Given the description of an element on the screen output the (x, y) to click on. 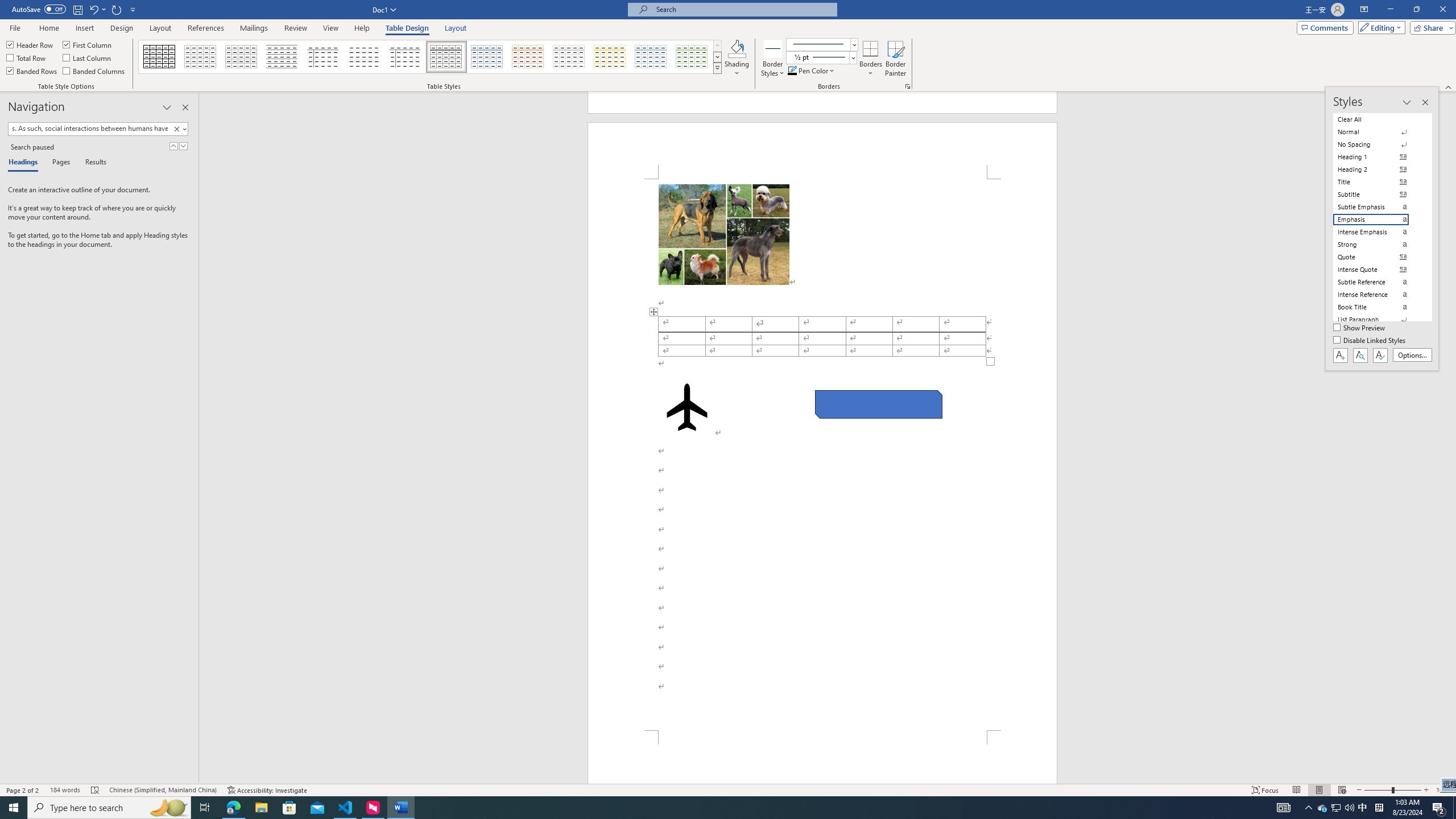
Class: NetUIScrollBar (1450, 437)
Plain Table 3 (322, 56)
Heading 2 (1377, 169)
Subtle Emphasis (1377, 206)
Border Painter (895, 58)
Editing (1379, 27)
Shading (737, 58)
Open (852, 57)
Plain Table 5 (405, 56)
Emphasis (1377, 219)
